Given the description of an element on the screen output the (x, y) to click on. 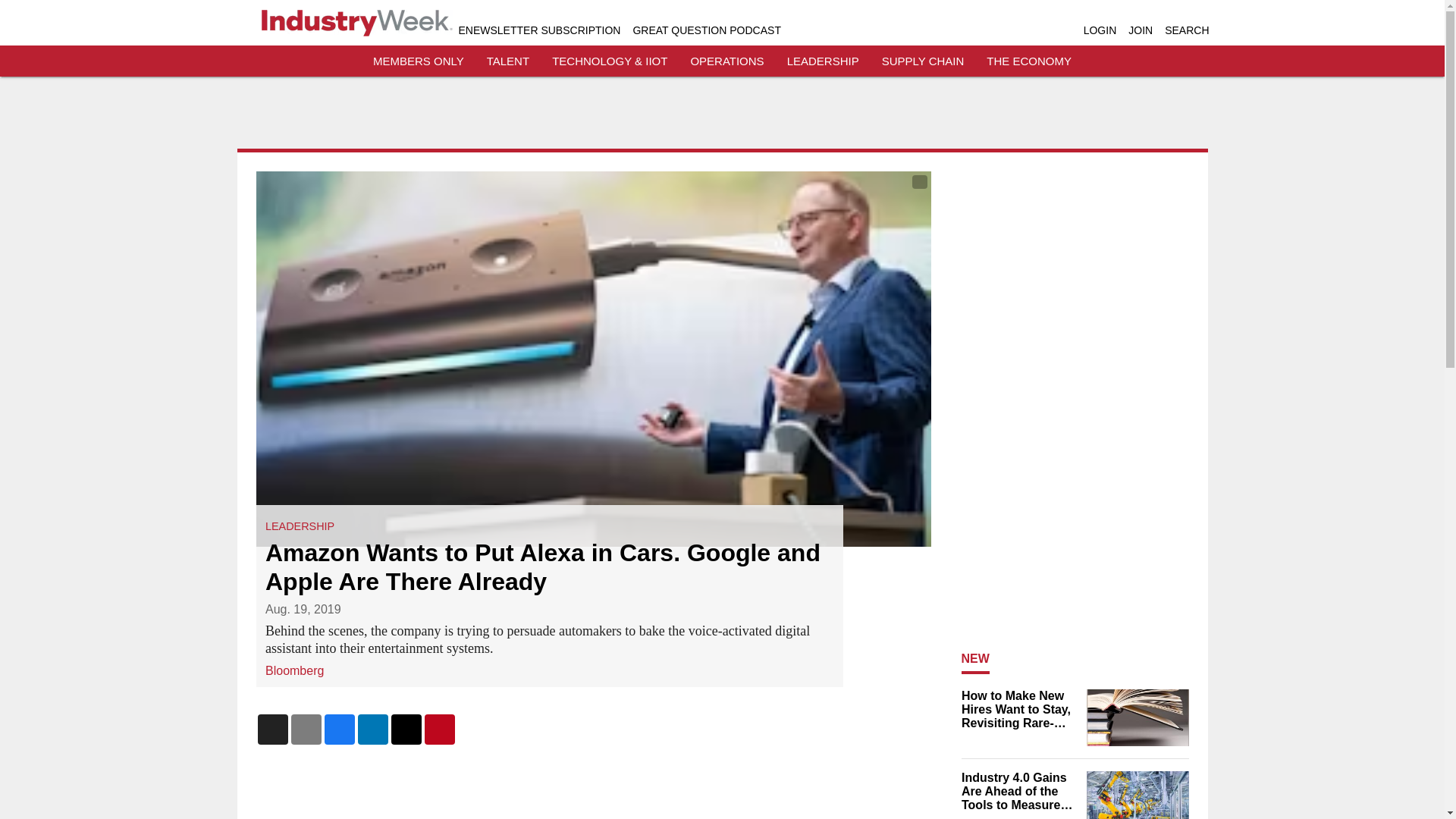
THE ECONOMY (1029, 60)
JOIN (1140, 30)
LEADERSHIP (299, 526)
SUPPLY CHAIN (922, 60)
OPERATIONS (726, 60)
LOGIN (1099, 30)
MEMBERS ONLY (418, 60)
TALENT (507, 60)
SEARCH (1186, 30)
GREAT QUESTION PODCAST (705, 30)
LEADERSHIP (823, 60)
ENEWSLETTER SUBSCRIPTION (539, 30)
